Given the description of an element on the screen output the (x, y) to click on. 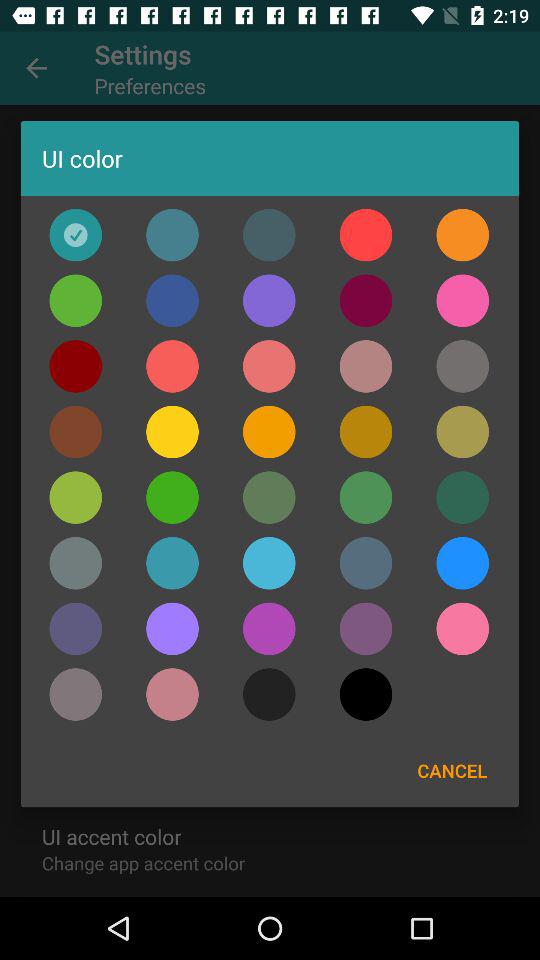
choose the colour (172, 563)
